Given the description of an element on the screen output the (x, y) to click on. 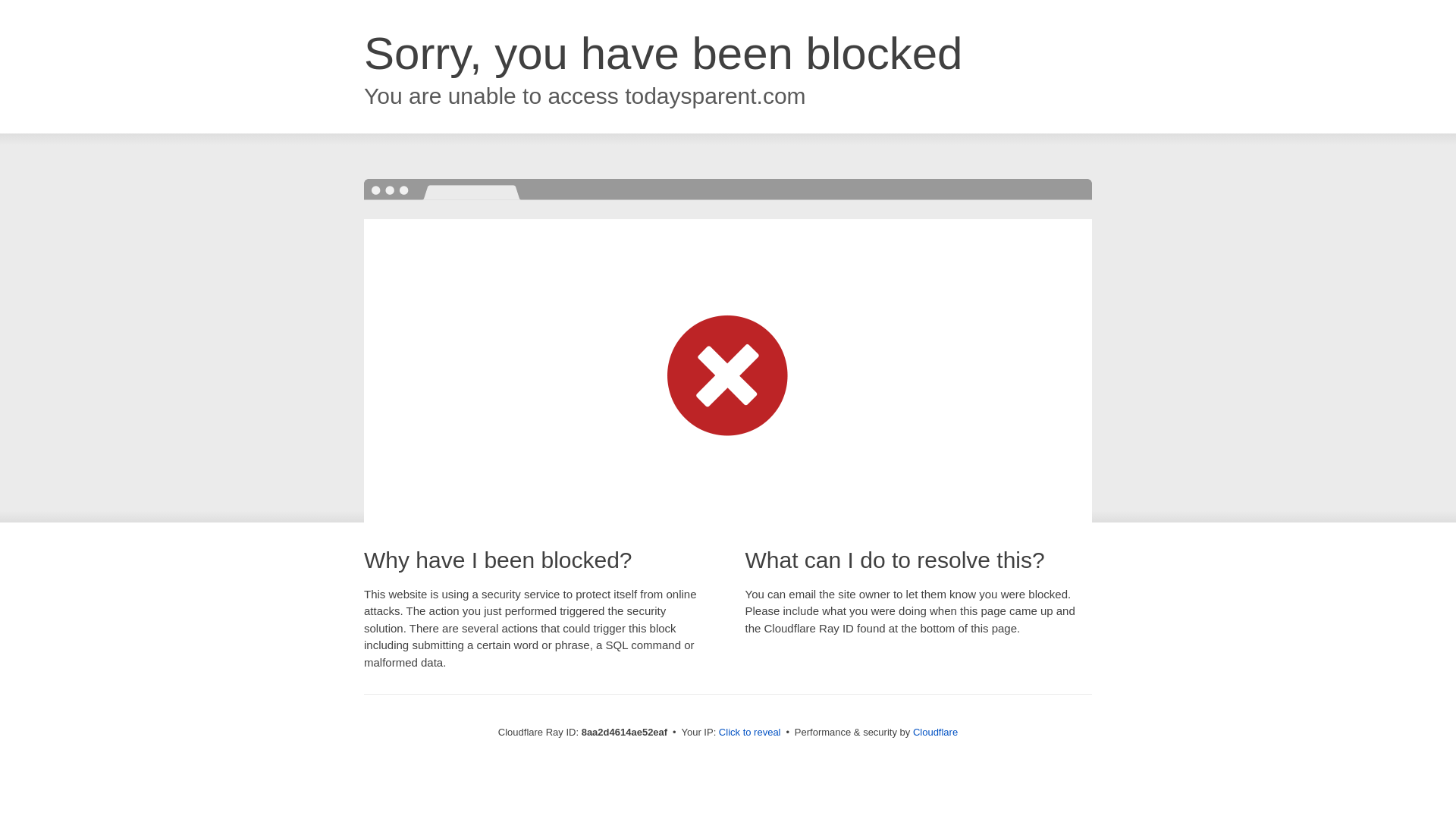
Cloudflare (935, 731)
Click to reveal (749, 732)
